Given the description of an element on the screen output the (x, y) to click on. 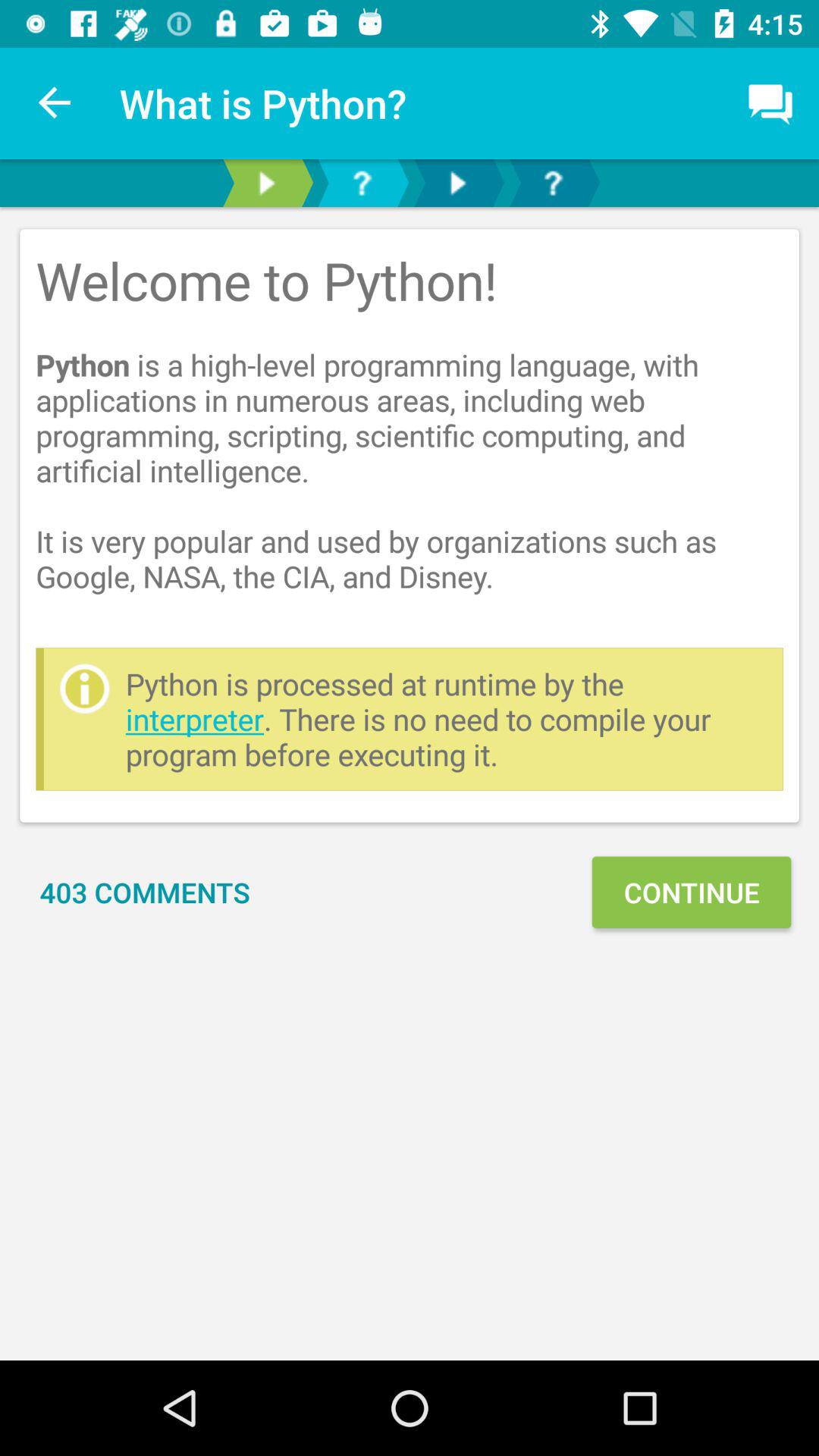
go to questions (361, 183)
